Given the description of an element on the screen output the (x, y) to click on. 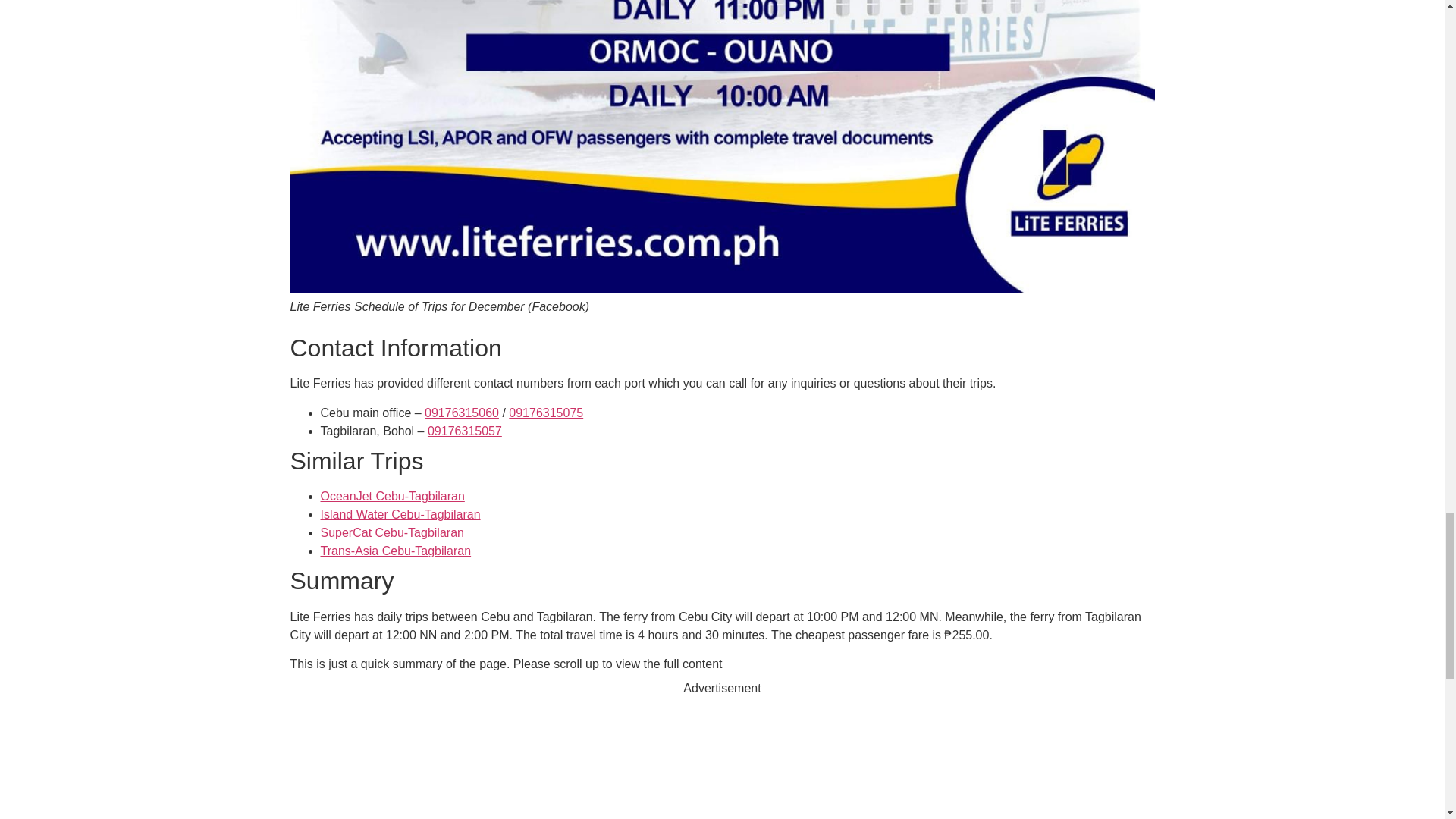
Advertisement (721, 758)
Trans-Asia Cebu-Tagbilaran (395, 550)
09176315057 (465, 431)
09176315060 (462, 412)
SuperCat Cebu-Tagbilaran (391, 532)
09176315075 (545, 412)
Island Water Cebu-Tagbilaran (400, 513)
OceanJet Cebu-Tagbilaran (392, 495)
